Given the description of an element on the screen output the (x, y) to click on. 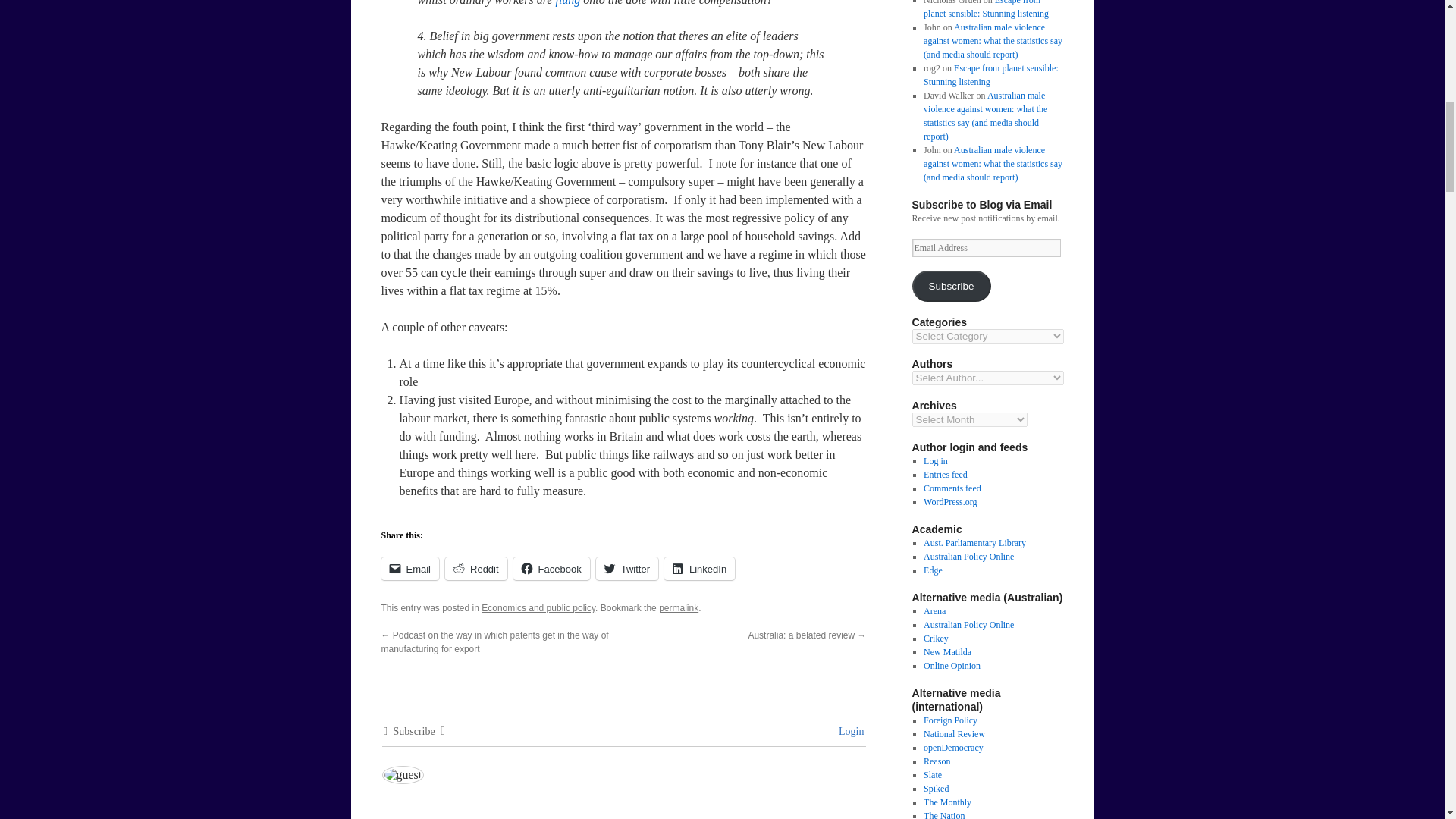
Click to share on LinkedIn (699, 568)
permalink (678, 607)
Email (409, 568)
Click to share on Twitter (626, 568)
LinkedIn (699, 568)
Economics and public policy (538, 607)
Reddit (475, 568)
Click to share on Facebook (551, 568)
Click to email a link to a friend (409, 568)
Twitter (626, 568)
Login (849, 731)
Facebook (551, 568)
Permalink to Why the left should favour lower taxes (678, 607)
Click to share on Reddit (475, 568)
flung  (568, 2)
